Given the description of an element on the screen output the (x, y) to click on. 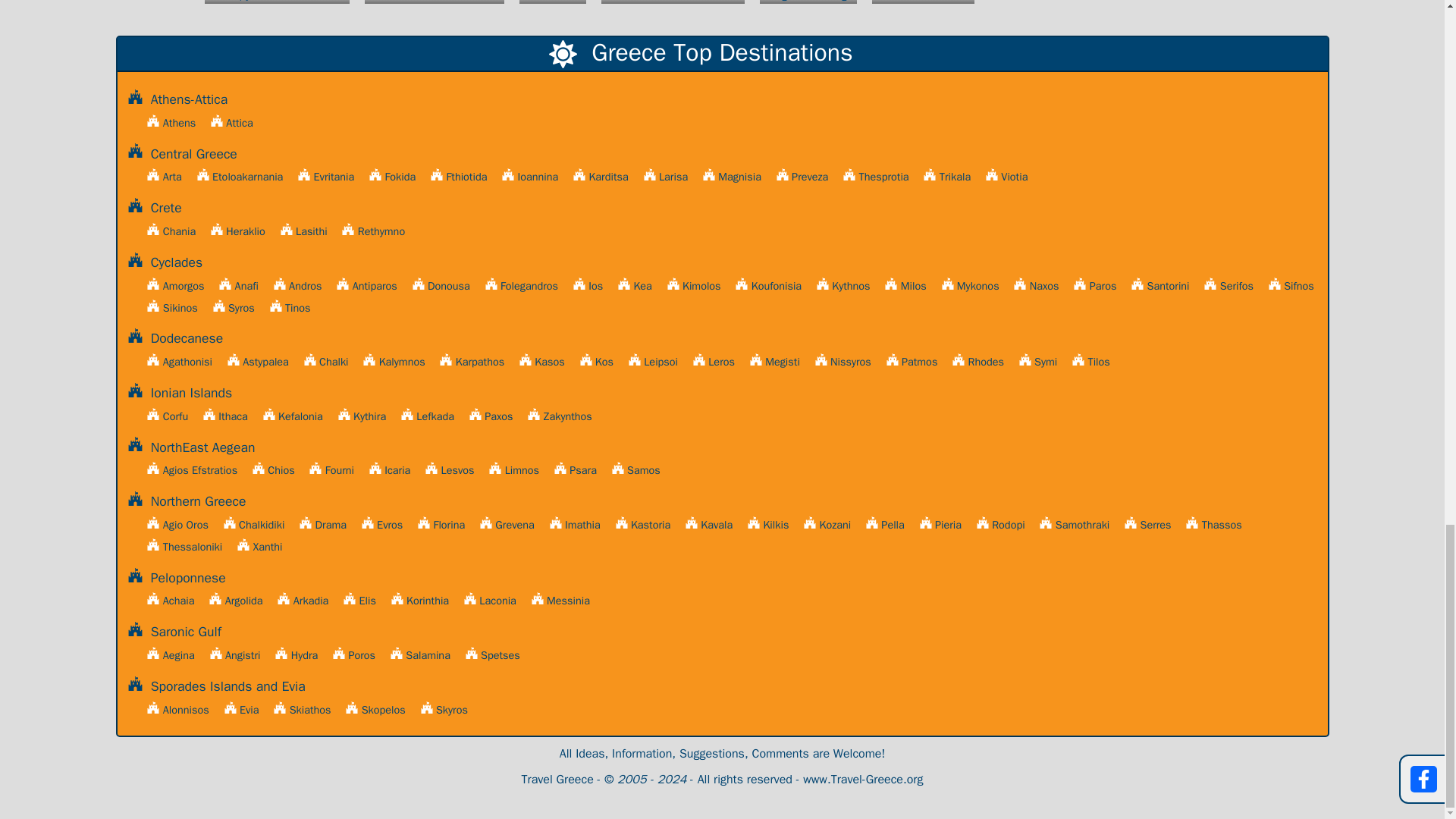
5 Greek Towns Nobody Told You About (673, 5)
5 Greek Towns Nobody Told You About (673, 5)
Bucket List Greek Islands You Need to Visit (922, 5)
8 Things To Do In Corfu Island, Greece (434, 5)
8 Things To Do In Corfu Island, Greece (434, 5)
Top 7 Most Famous Greek Islands (276, 5)
Top 7 Most Famous Greek Islands (276, 5)
10 Dishes That Will Make You Book a Flight to Greece (553, 5)
10 Dishes That Will Make You Book a Flight to Greece (553, 5)
Bucket List Greek Islands You Need to Visit (922, 5)
